Given the description of an element on the screen output the (x, y) to click on. 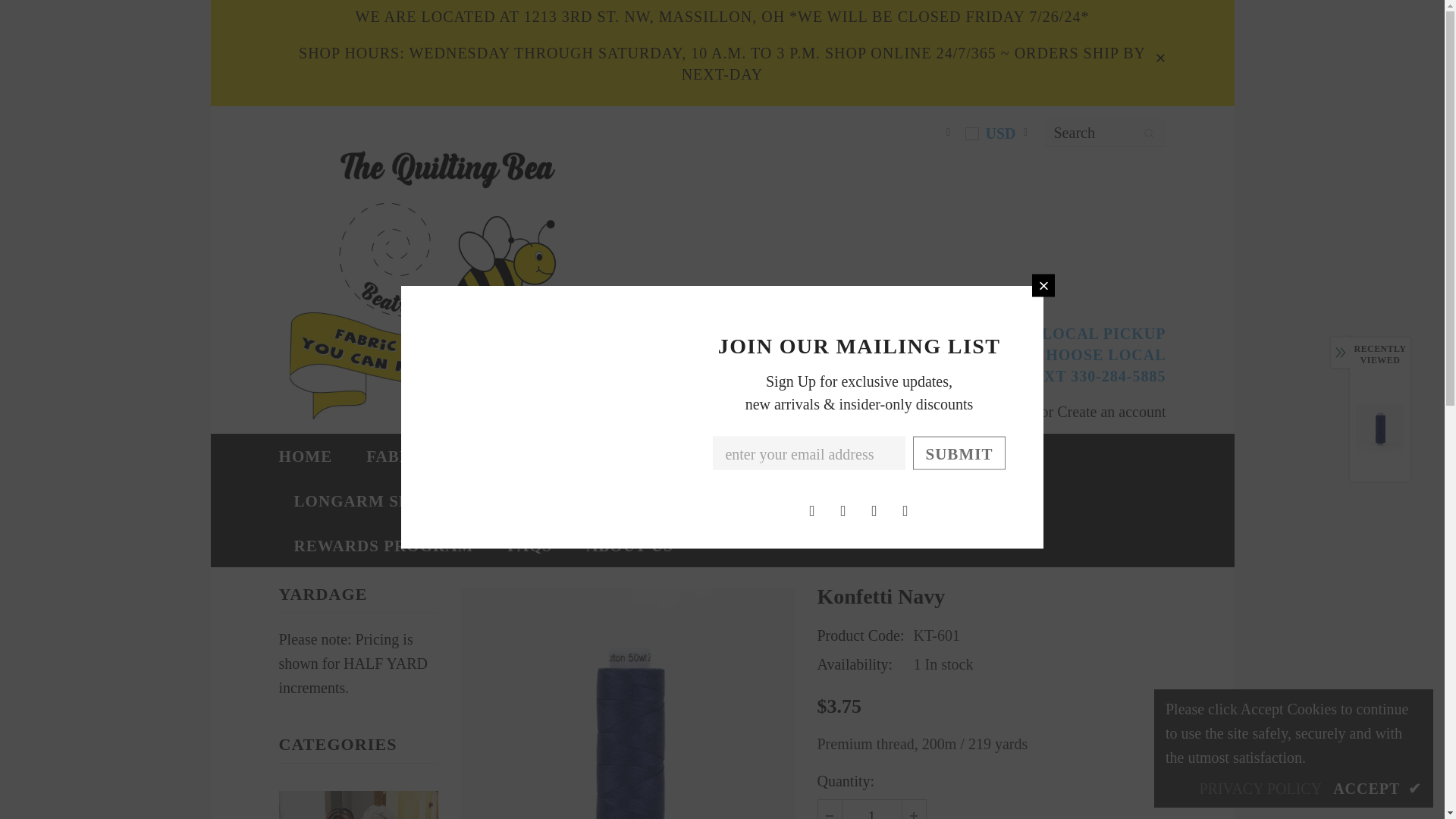
Wish Lists (930, 410)
close (1160, 52)
Create an account (1111, 411)
Shopping Cart 0 (803, 410)
Sign In (1016, 411)
1 (871, 809)
Submit (958, 453)
